Given the description of an element on the screen output the (x, y) to click on. 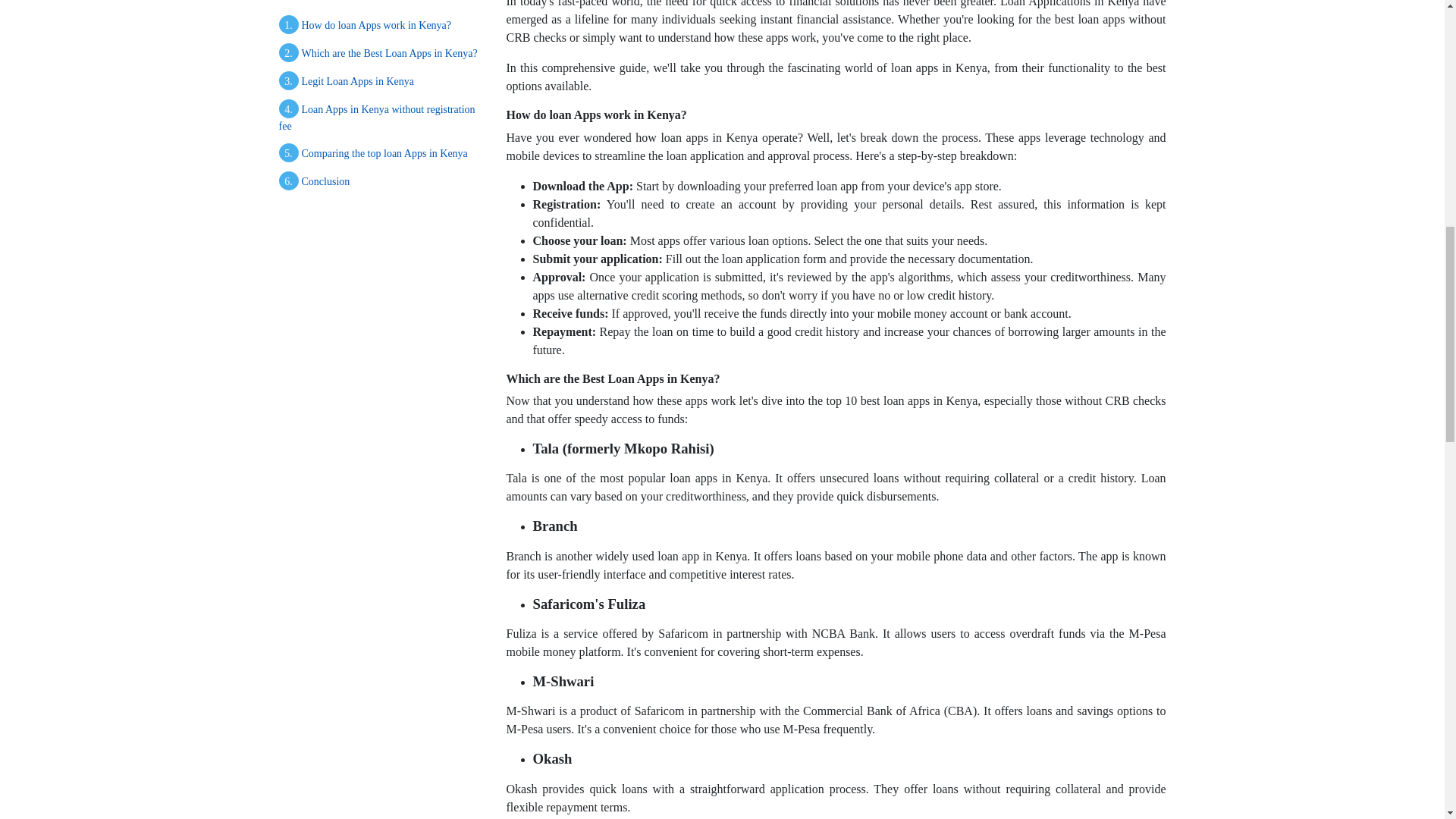
6. Conclusion (381, 161)
4. Loan Apps in Kenya without registration fee (381, 97)
5. Comparing the top loan Apps in Kenya (381, 133)
2. Which are the Best Loan Apps in Kenya? (381, 33)
1. How do loan Apps work in Kenya? (381, 9)
3. Legit Loan Apps in Kenya (381, 61)
